Given the description of an element on the screen output the (x, y) to click on. 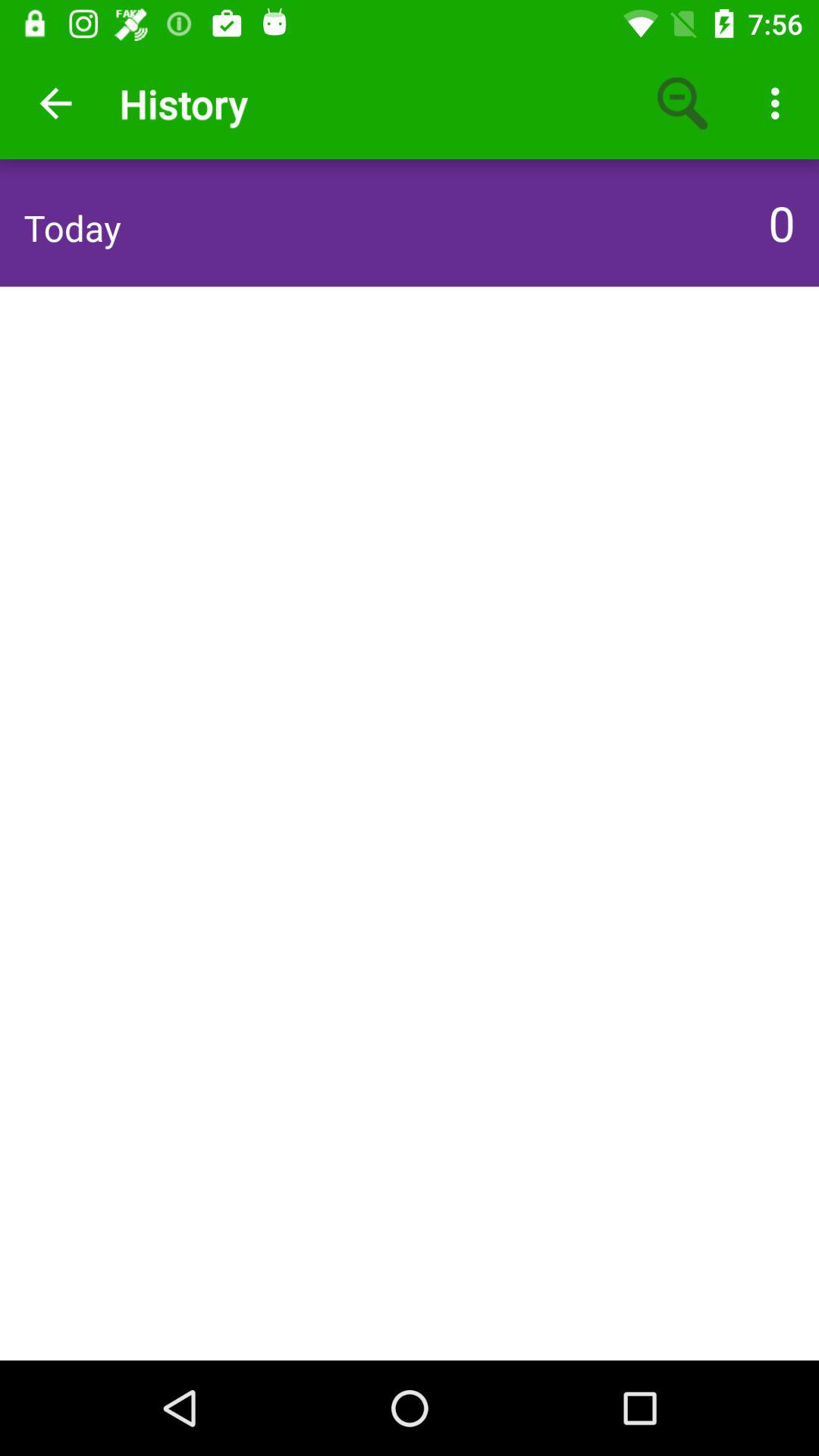
jump until 0 (777, 222)
